Given the description of an element on the screen output the (x, y) to click on. 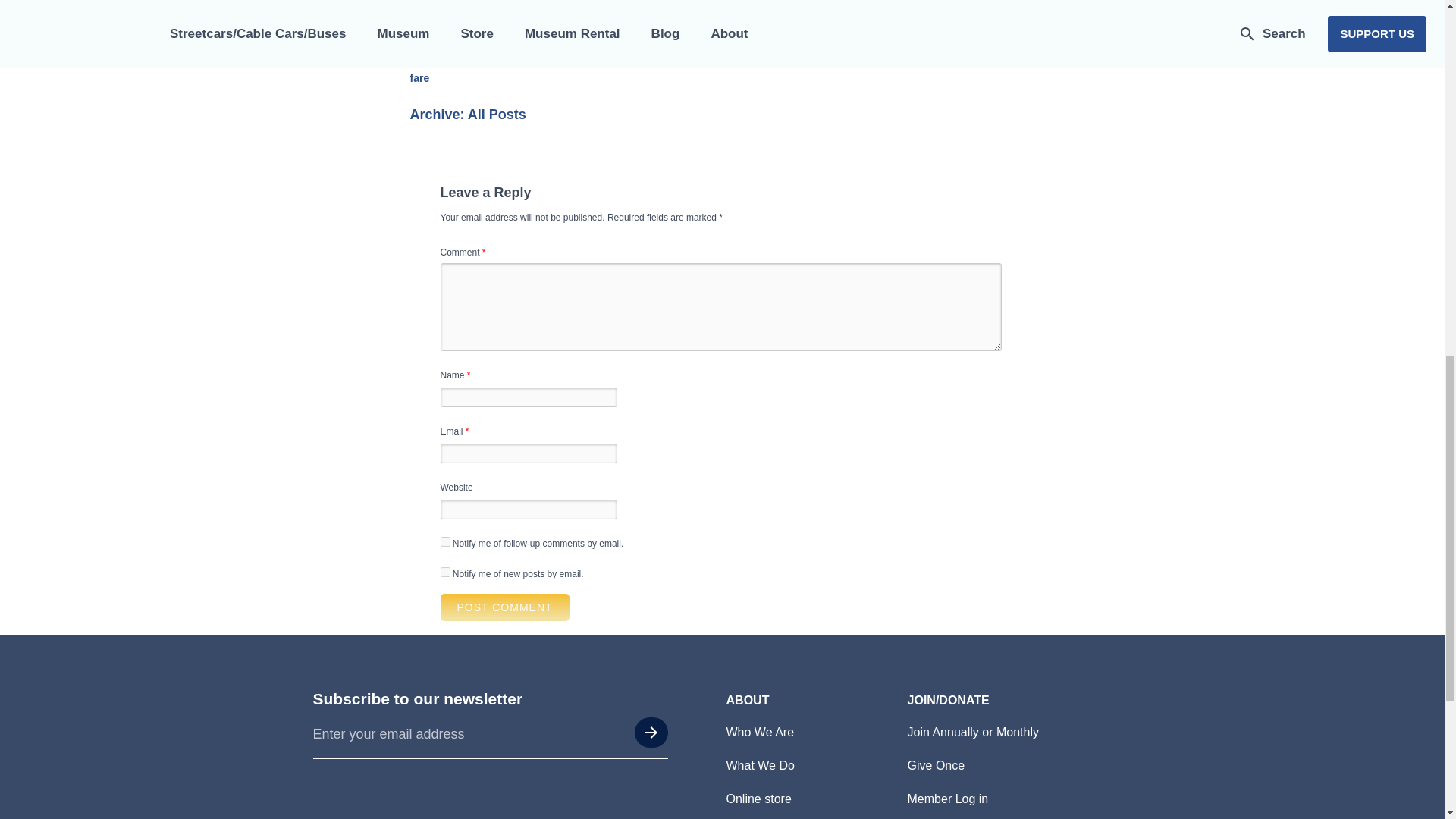
Post Comment (504, 606)
Archive: All Posts (467, 114)
subscribe (444, 572)
subscribe (444, 542)
